Given the description of an element on the screen output the (x, y) to click on. 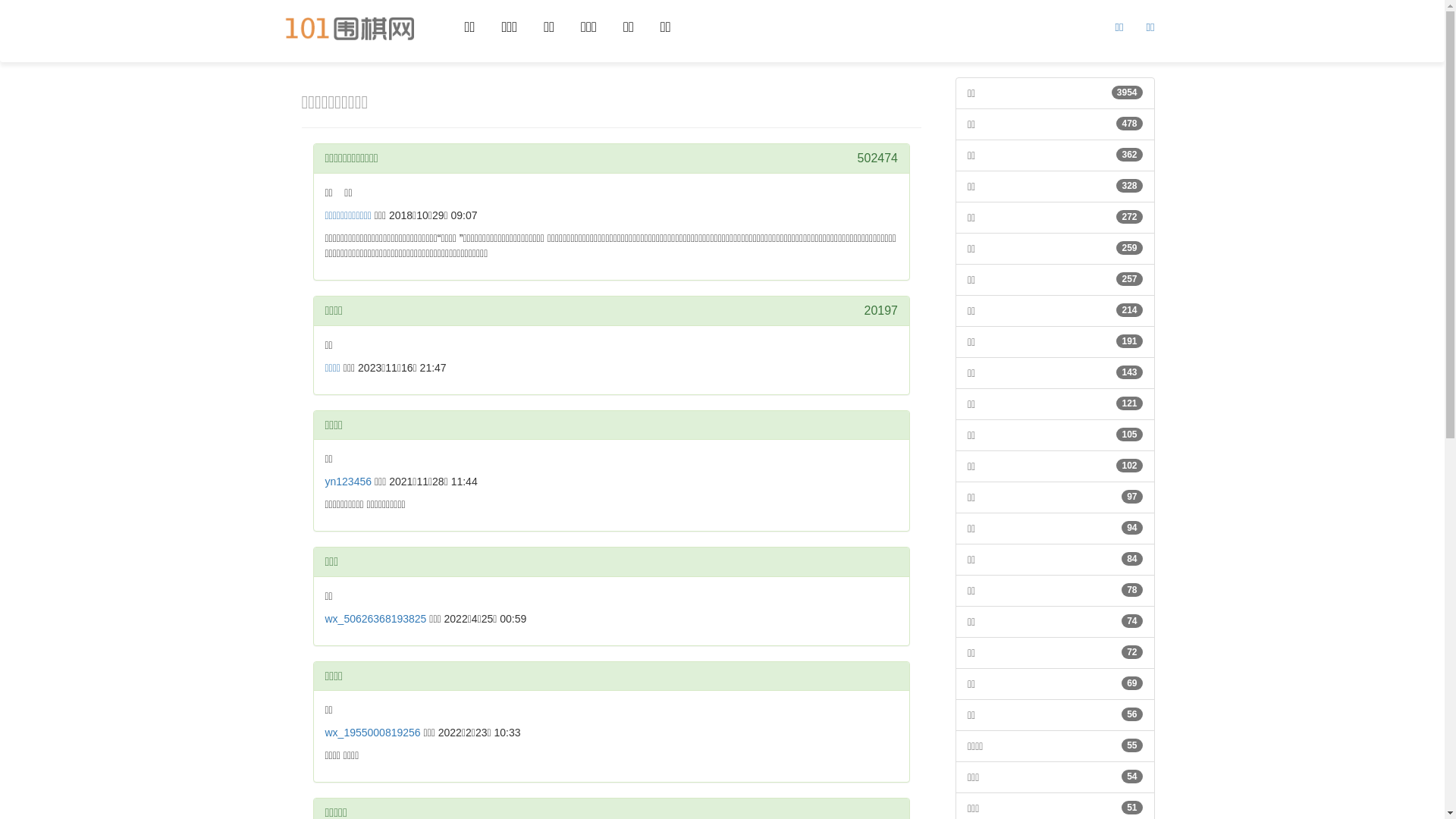
yn123456 Element type: text (347, 481)
wx_1955000819256 Element type: text (372, 732)
wx_50626368193825 Element type: text (375, 618)
